Given the description of an element on the screen output the (x, y) to click on. 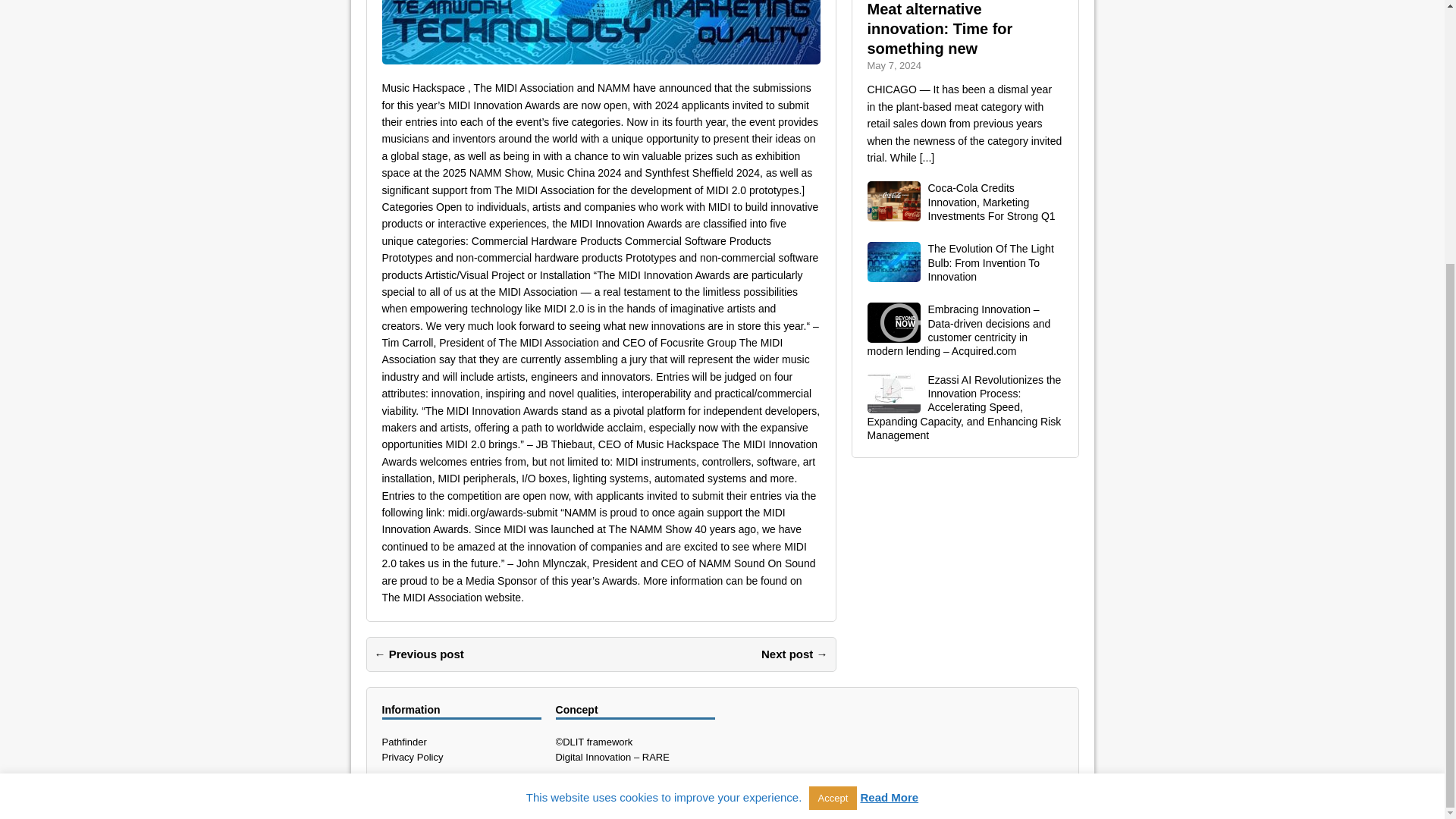
Meat alternative innovation: Time for something new (940, 28)
innovation DLIT (601, 32)
Meat alternative innovation: Time for something new (927, 157)
Meat alternative innovation: Time for something new (940, 28)
